Given the description of an element on the screen output the (x, y) to click on. 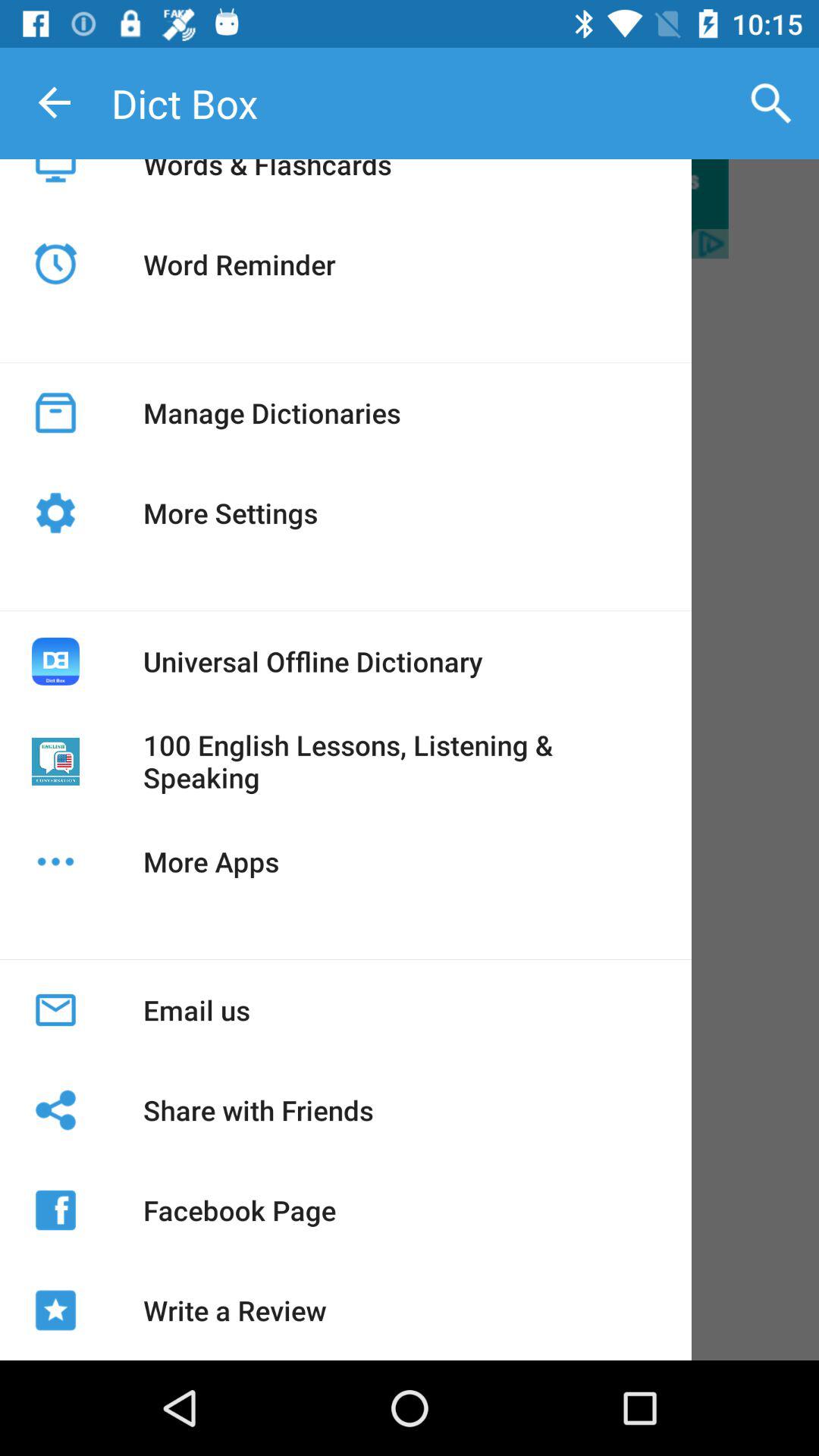
flip to facebook page item (239, 1210)
